Given the description of an element on the screen output the (x, y) to click on. 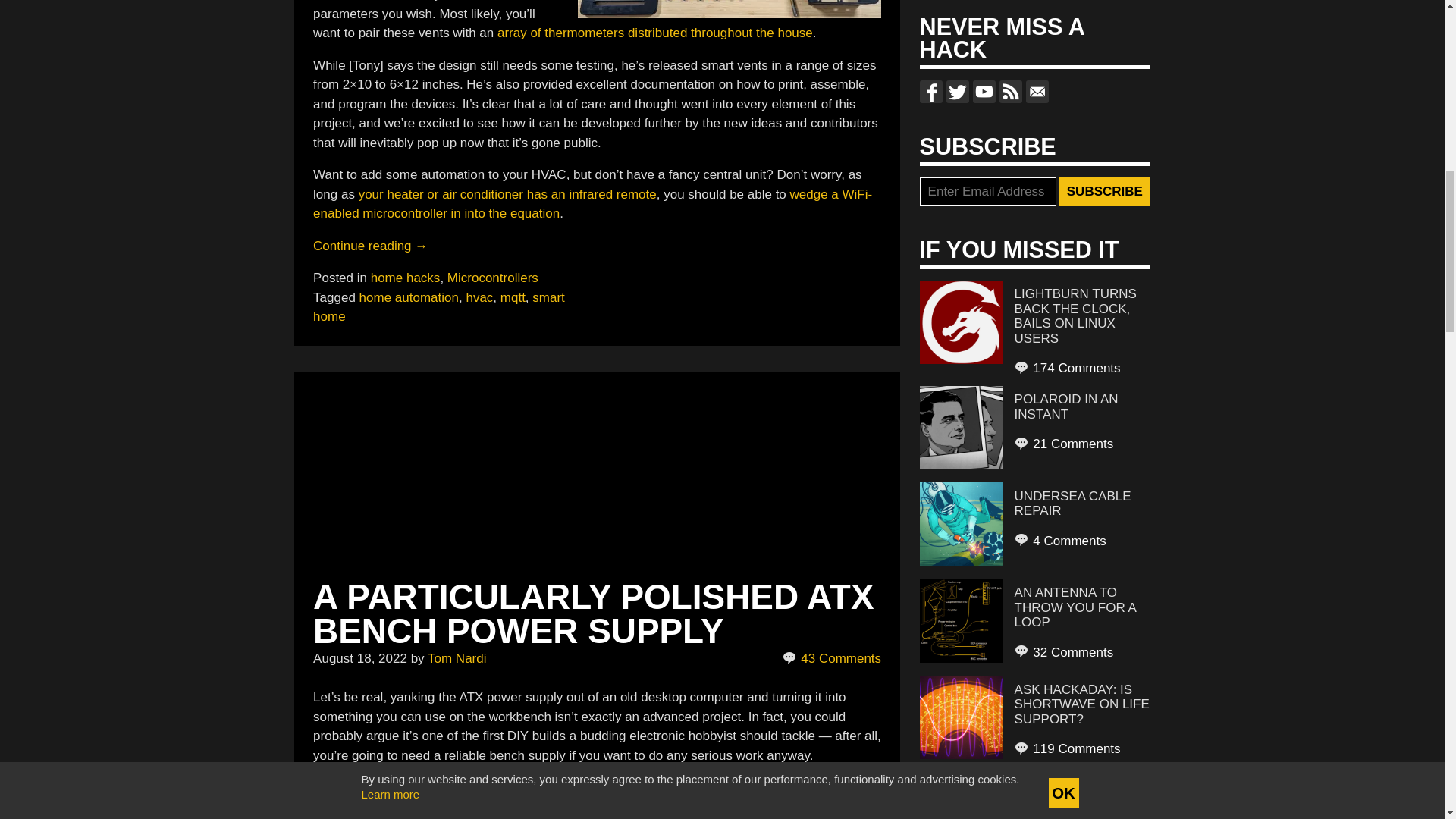
August 18, 2022 (360, 658)
your heater or air conditioner has an infrared remote (507, 193)
43 Comments (832, 659)
Microcontrollers (492, 278)
smart home (438, 306)
home automation (408, 296)
August 18, 2022 - 1:00 am (360, 658)
wedge a WiFi-enabled microcontroller in into the equation (592, 203)
A PARTICULARLY POLISHED ATX BENCH POWER SUPPLY (593, 613)
home hacks (406, 278)
